Given the description of an element on the screen output the (x, y) to click on. 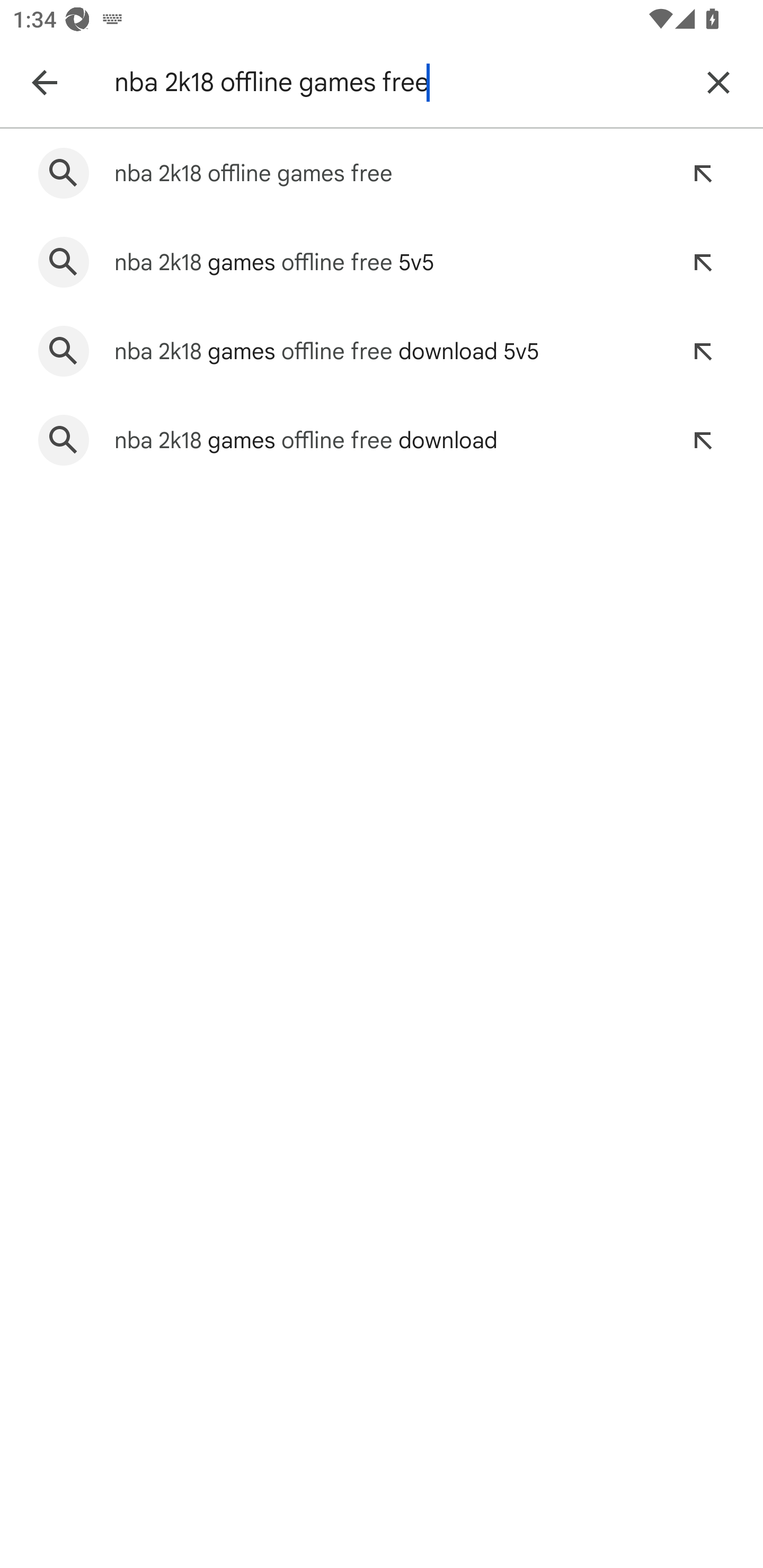
Navigate up (44, 81)
nba 2k18 offline games free (397, 81)
Clear (718, 81)
Refine search to "nba 2k18 offline games free" (702, 172)
Refine search to "nba 2k18 games offline free 5v5" (702, 262)
